Given the description of an element on the screen output the (x, y) to click on. 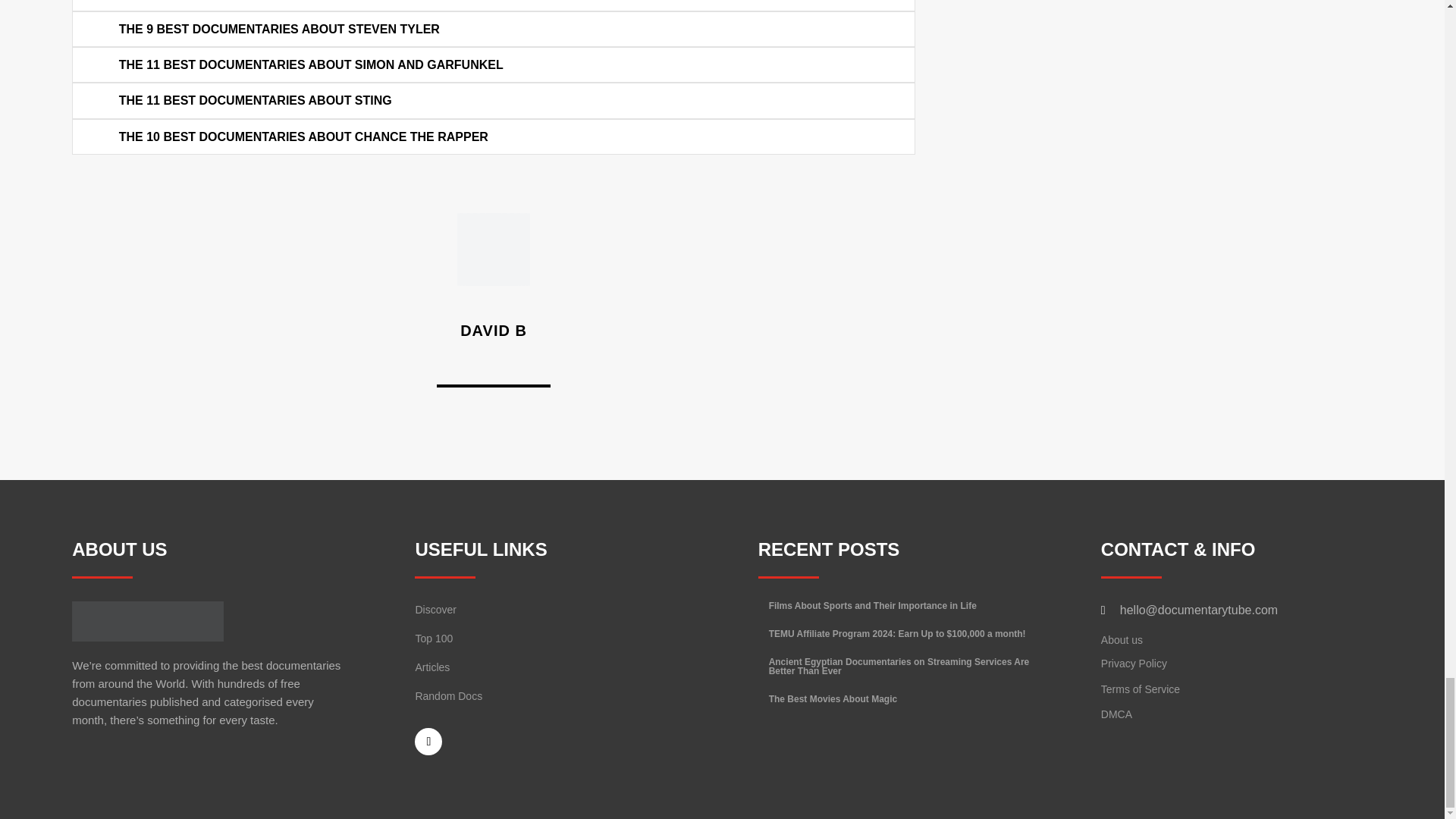
Follow on Facebook (428, 741)
THE 10 BEST DOCUMENTARIES ABOUT CHANCE THE RAPPER (303, 136)
THE 11 BEST DOCUMENTARIES ABOUT SIMON AND GARFUNKEL (311, 64)
THE 9 BEST DOCUMENTARIES ABOUT STEVEN TYLER (279, 29)
THE 11 BEST DOCUMENTARIES ABOUT STING (255, 101)
dc-removebg-preview (147, 621)
